Given the description of an element on the screen output the (x, y) to click on. 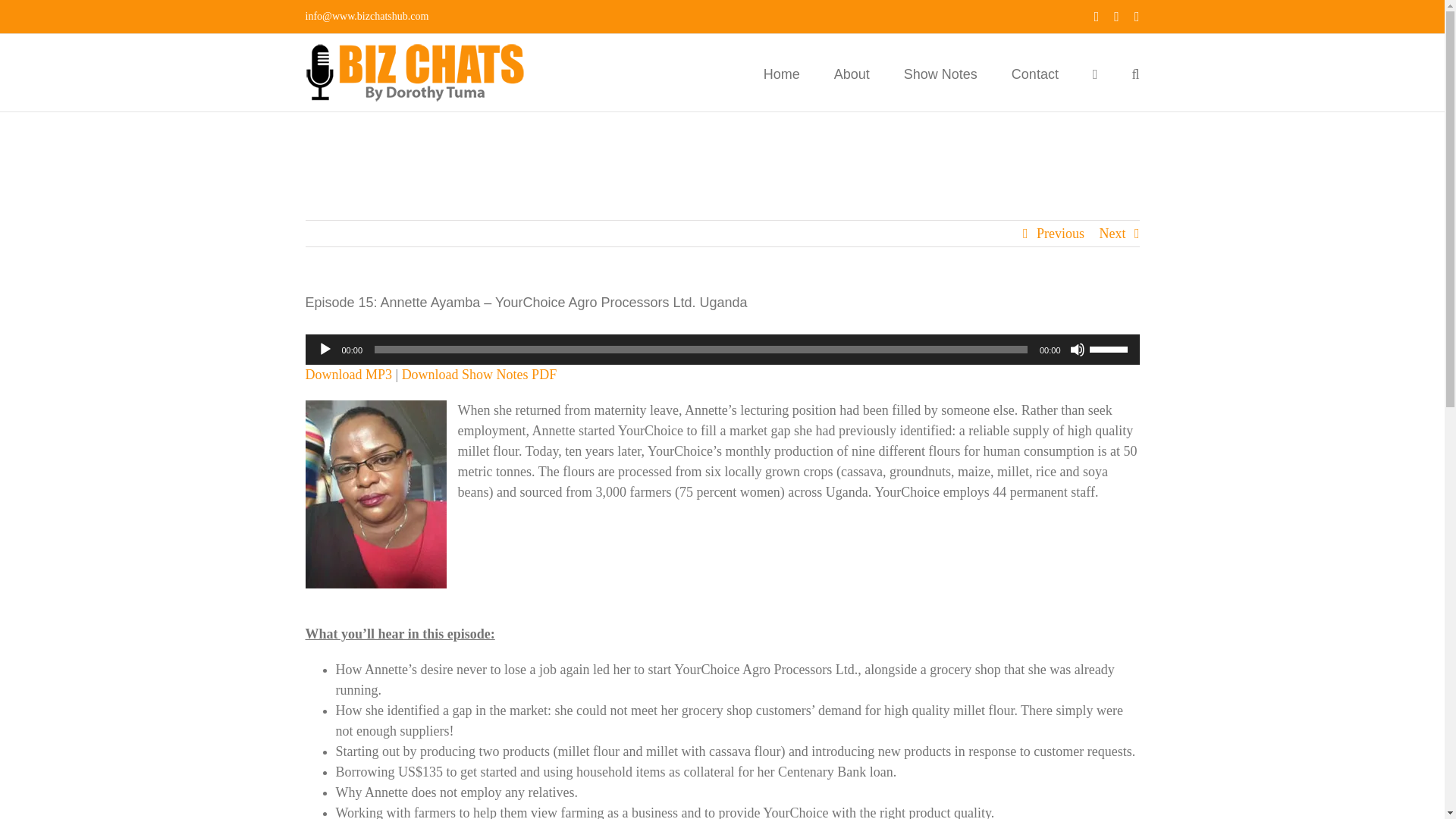
Show Notes (940, 72)
Next (1112, 233)
Download MP3 (347, 374)
Previous (1060, 233)
Mute (1076, 349)
Download Show Notes PDF (479, 374)
Play (324, 349)
